Given the description of an element on the screen output the (x, y) to click on. 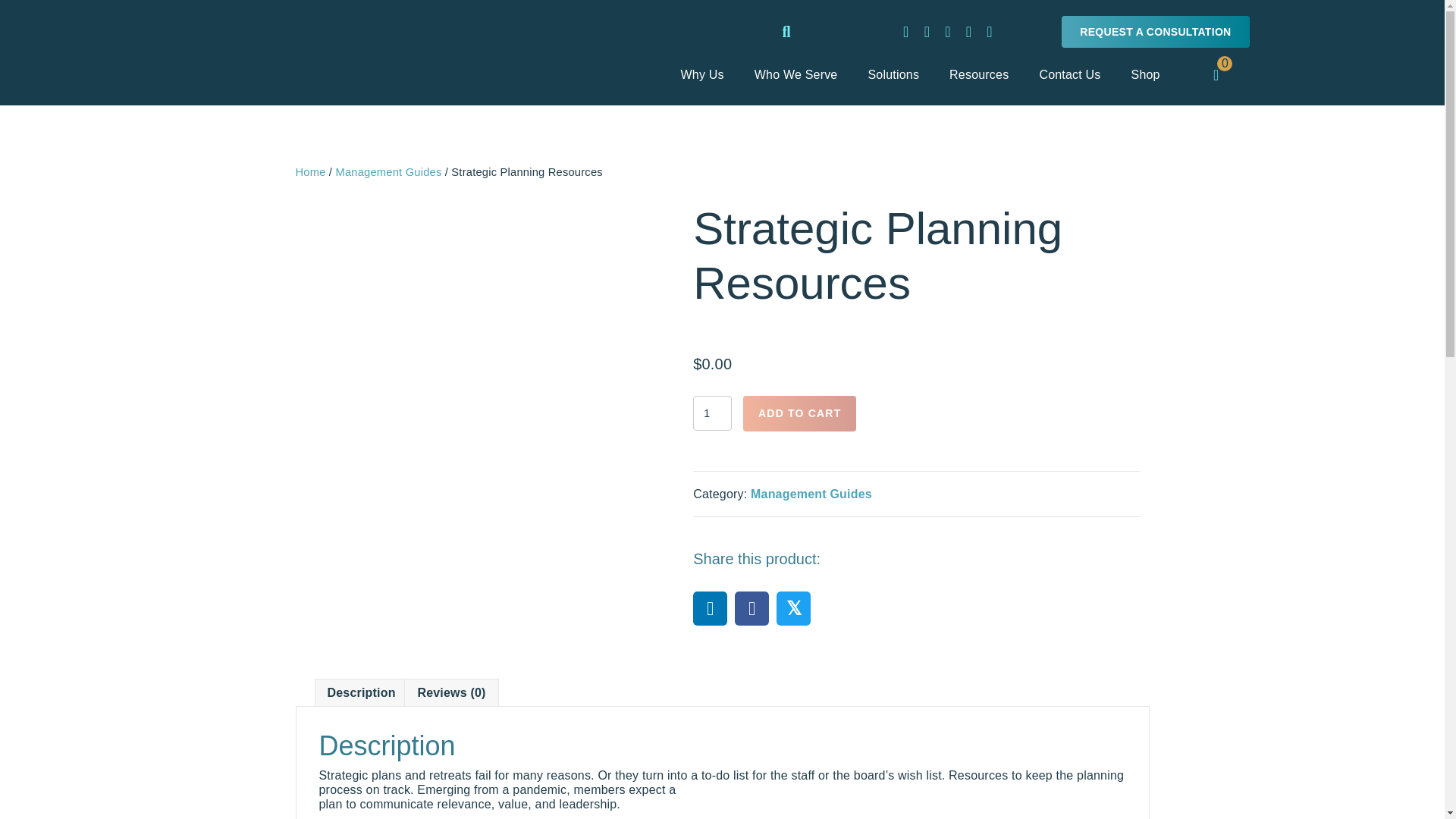
Who We Serve (795, 74)
1 (712, 412)
Why Us (702, 74)
Resources (979, 74)
REQUEST A CONSULTATION (1155, 31)
View your shopping cart (1216, 73)
0 (1216, 73)
Shop (1145, 74)
Solutions (893, 74)
Contact Us (1069, 74)
